Given the description of an element on the screen output the (x, y) to click on. 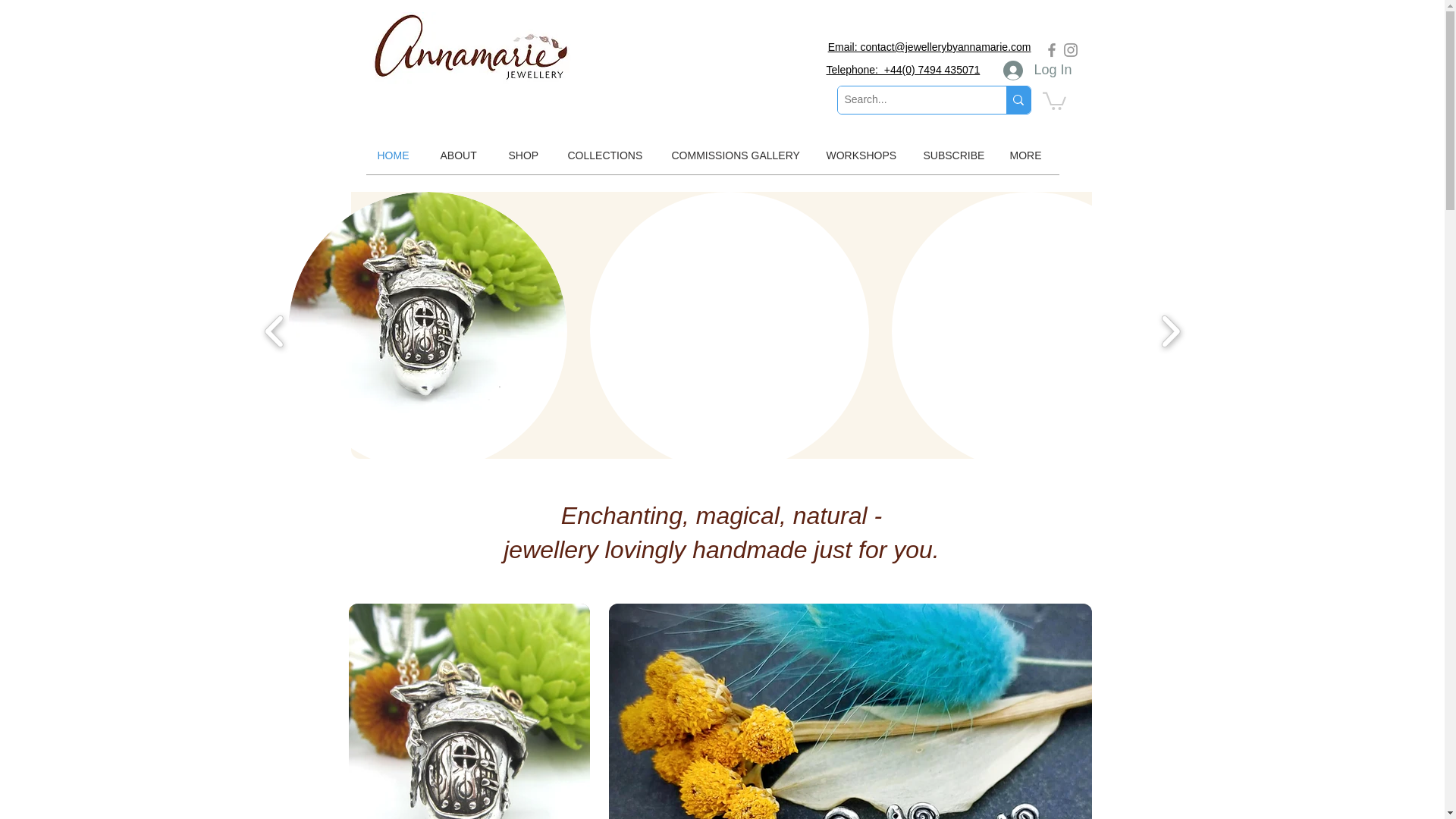
SUBSCRIBE (954, 155)
COMMISSIONS GALLERY (736, 155)
COLLECTIONS (608, 155)
fantasy and nature jewellery (473, 48)
Log In (1036, 70)
HOME (396, 155)
